Given the description of an element on the screen output the (x, y) to click on. 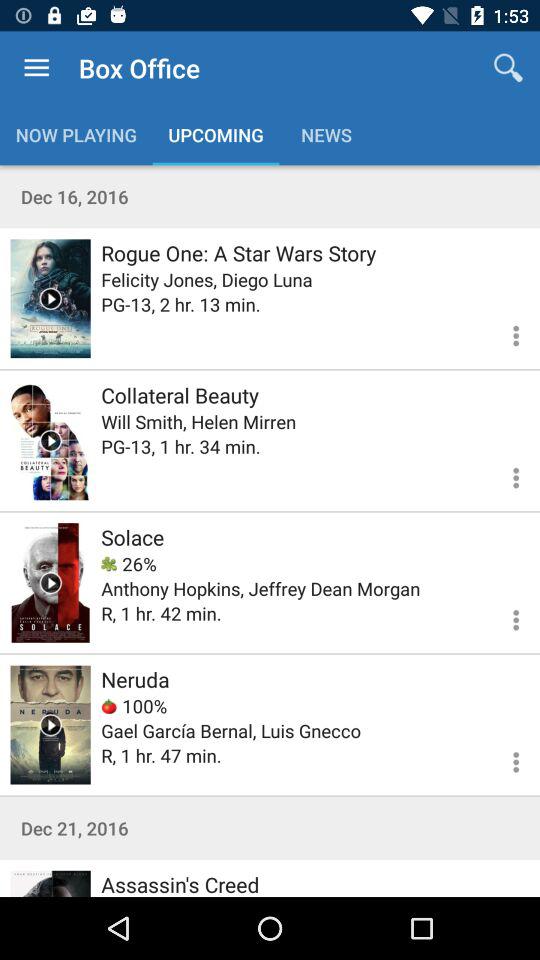
turn on the icon above the pg 13 1 item (198, 421)
